Given the description of an element on the screen output the (x, y) to click on. 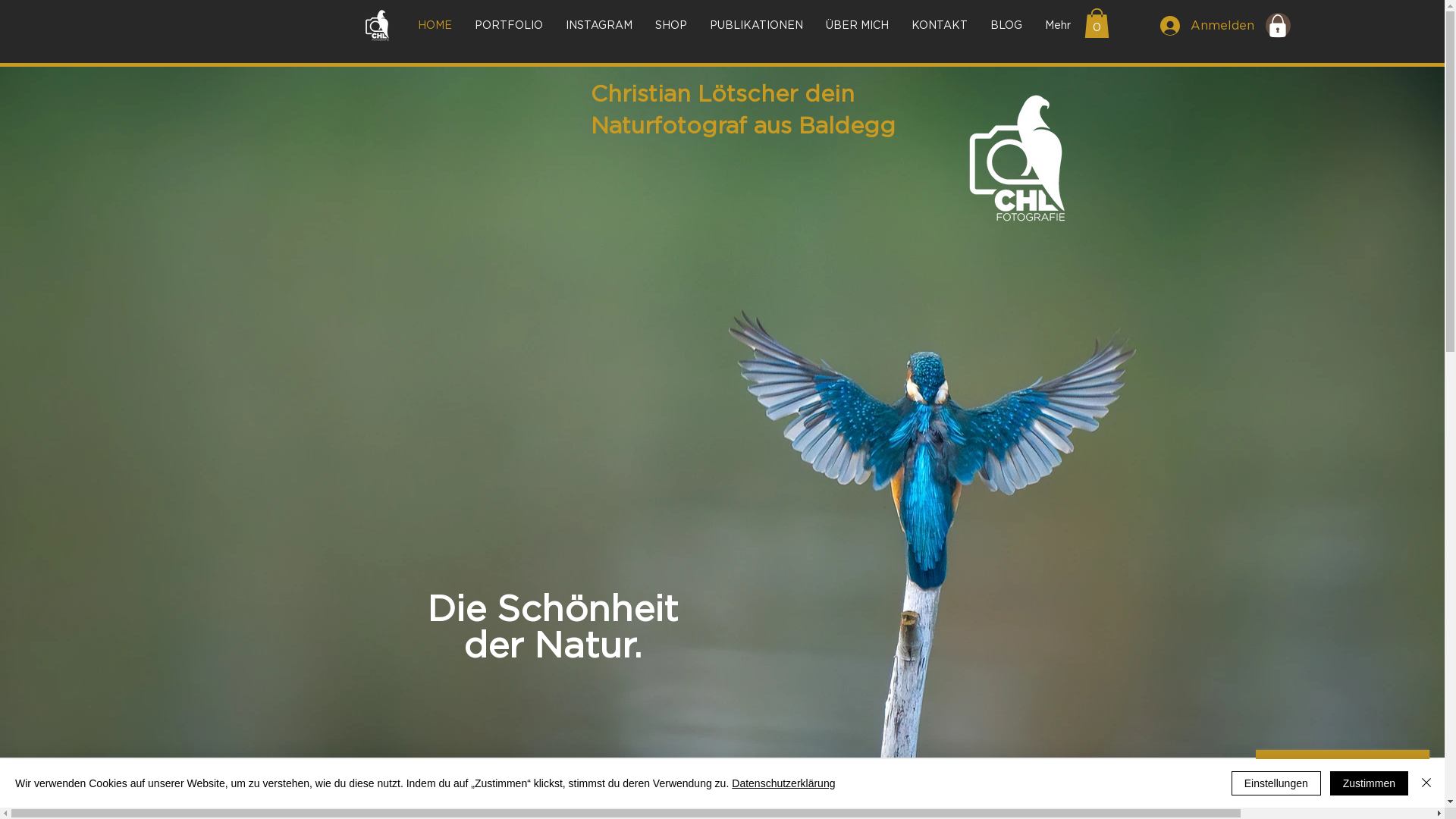
Einstellungen Element type: text (1276, 783)
Wix Chat Element type: hover (1349, 774)
PORTFOLIO Element type: text (507, 25)
CHL_Logo quadrat weiss.png Element type: hover (376, 25)
KONTAKT Element type: text (938, 25)
Zustimmen Element type: text (1369, 783)
SHOP Element type: text (670, 25)
INSTAGRAM Element type: text (598, 25)
0 Element type: text (1096, 22)
Visitor Analytics Element type: hover (1442, 4)
PUBLIKATIONEN Element type: text (755, 25)
Anmelden Element type: text (1201, 25)
HOME Element type: text (434, 25)
BLOG Element type: text (1005, 25)
CHL Fotografie Element type: hover (1016, 157)
